Given the description of an element on the screen output the (x, y) to click on. 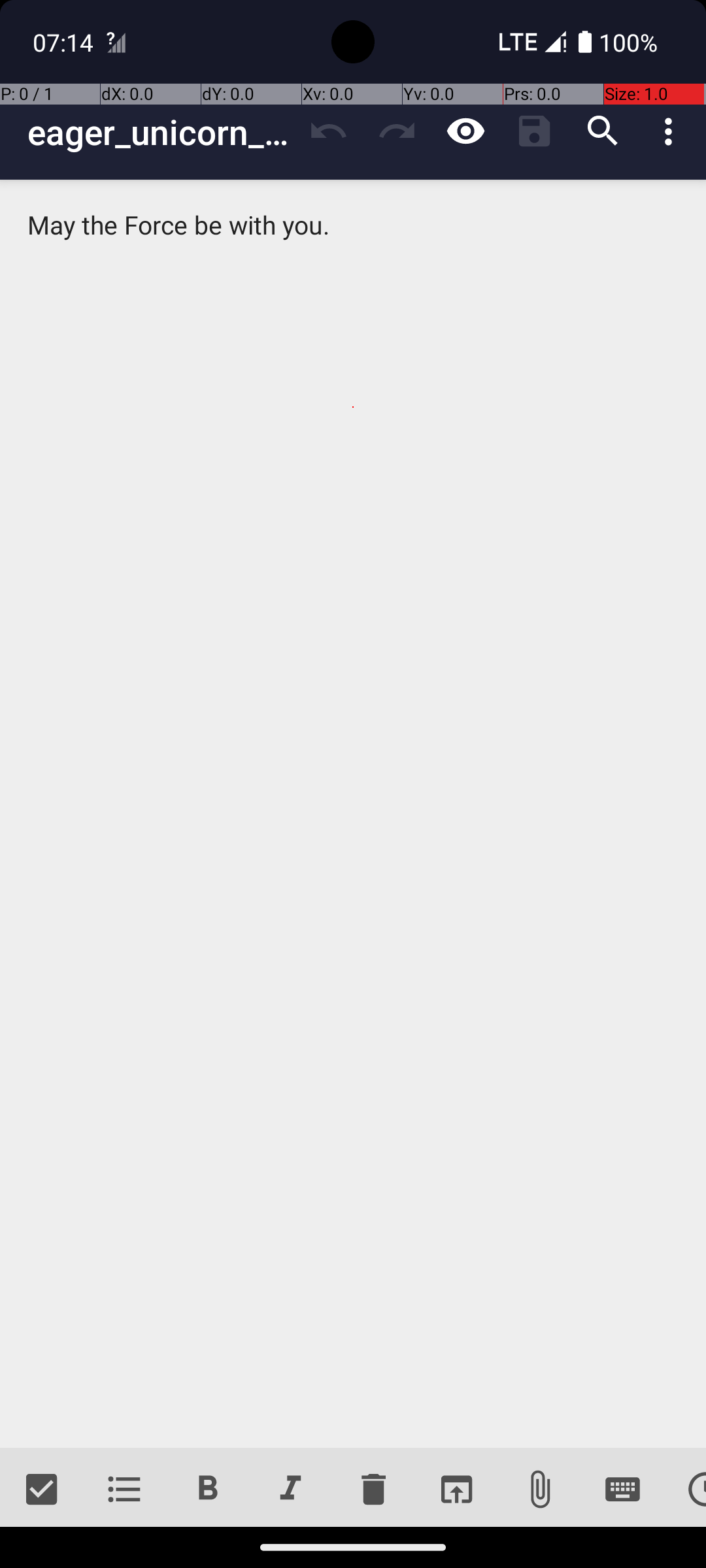
eager_unicorn_final Element type: android.widget.TextView (160, 131)
May the Force be with you.
 Element type: android.widget.EditText (353, 813)
07:14 Element type: android.widget.TextView (64, 41)
